Given the description of an element on the screen output the (x, y) to click on. 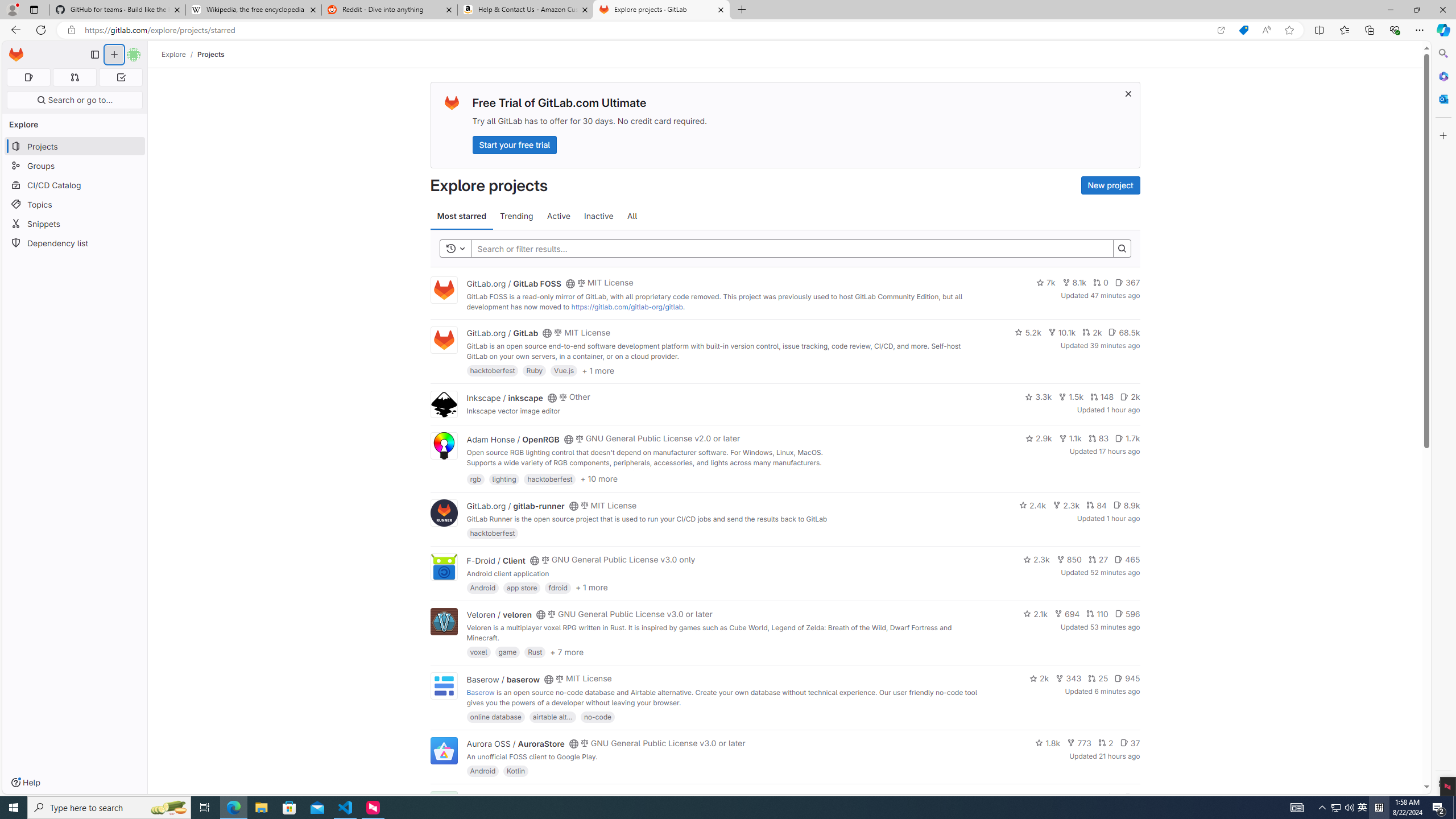
2.3k (1035, 559)
+ 10 more (599, 478)
Groups (74, 165)
https://gitlab.com/gitlab-org/gitlab (626, 306)
3.3k (1038, 396)
2.4k (1032, 504)
Kotlin (515, 770)
10.1k (1061, 331)
